Given the description of an element on the screen output the (x, y) to click on. 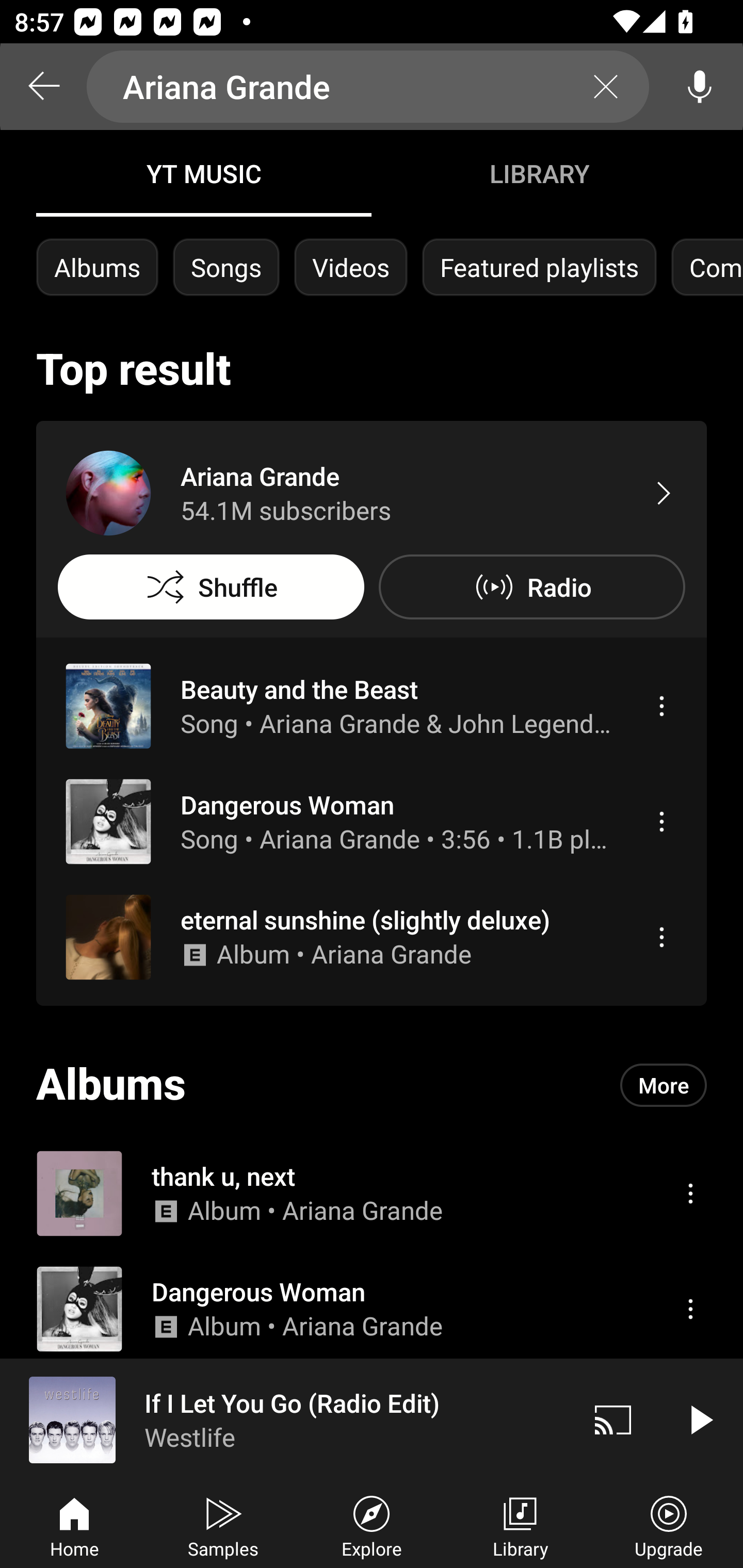
Search back (43, 86)
Ariana Grande (367, 86)
Clear search (605, 86)
Voice search (699, 86)
Library LIBRARY (538, 173)
Shuffle (210, 587)
Radio (531, 587)
Menu (661, 705)
Menu (661, 821)
Menu (661, 937)
Albums More More (371, 1084)
More (663, 1085)
Menu (690, 1193)
Menu (690, 1309)
If I Let You Go (Radio Edit) Westlife (284, 1419)
Cast. Disconnected (612, 1419)
Play video (699, 1419)
Home (74, 1524)
Samples (222, 1524)
Explore (371, 1524)
Library (519, 1524)
Upgrade (668, 1524)
